Given the description of an element on the screen output the (x, y) to click on. 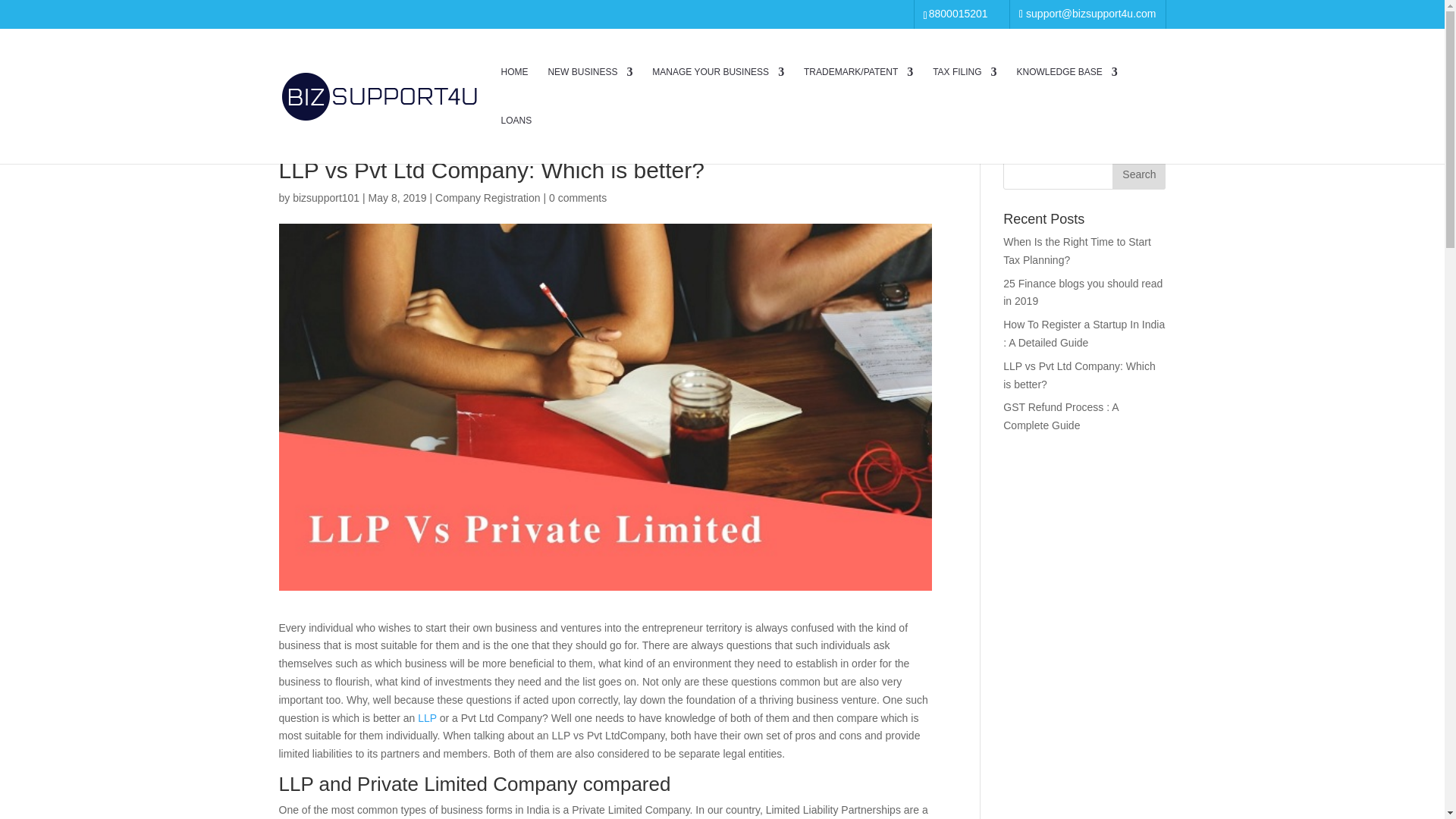
NEW BUSINESS (589, 90)
Posts by bizsupport101 (325, 197)
TAX FILING (964, 90)
Search (1139, 173)
MANAGE YOUR BUSINESS (718, 90)
